Given the description of an element on the screen output the (x, y) to click on. 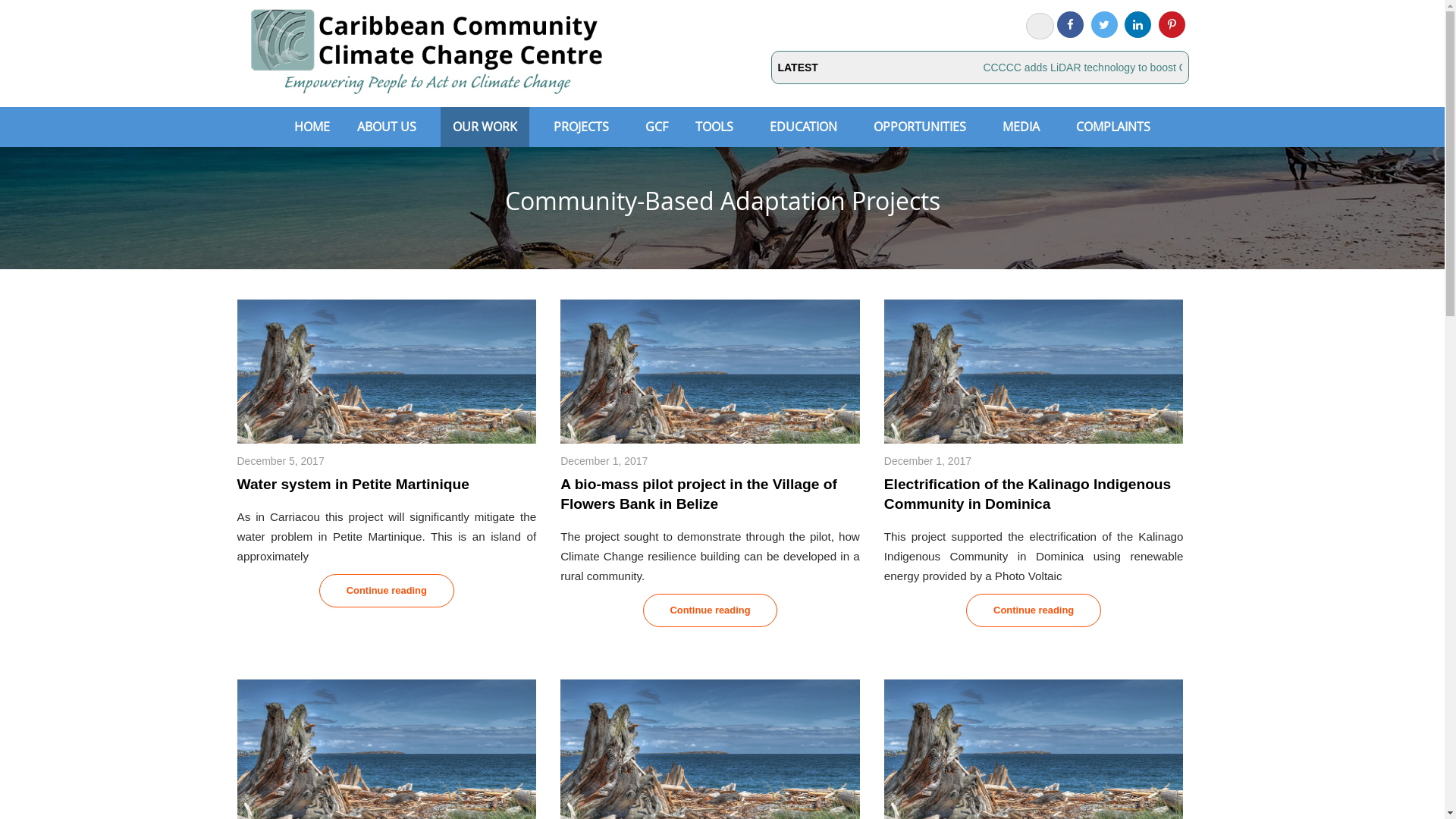
Continue reading
Water system in Petite Martinique Element type: text (386, 590)
December 5, 2017 Element type: text (283, 460)
Water system in Petite Martinique Element type: text (352, 484)
COMPLAINTS Element type: text (1112, 126)
PROJECTS Element type: text (581, 126)
ABOUT US Element type: text (385, 126)
December 1, 2017 Element type: text (931, 460)
MEDIA Element type: text (1020, 126)
EDUCATION Element type: text (803, 126)
TOOLS Element type: text (714, 126)
Community-Based Adaptation Projects Element type: text (722, 200)
OPPORTUNITIES Element type: text (919, 126)
OUR WORK Element type: text (484, 126)
December 1, 2017 Element type: text (607, 460)
GCF Element type: text (656, 126)
HOME Element type: text (312, 126)
